Given the description of an element on the screen output the (x, y) to click on. 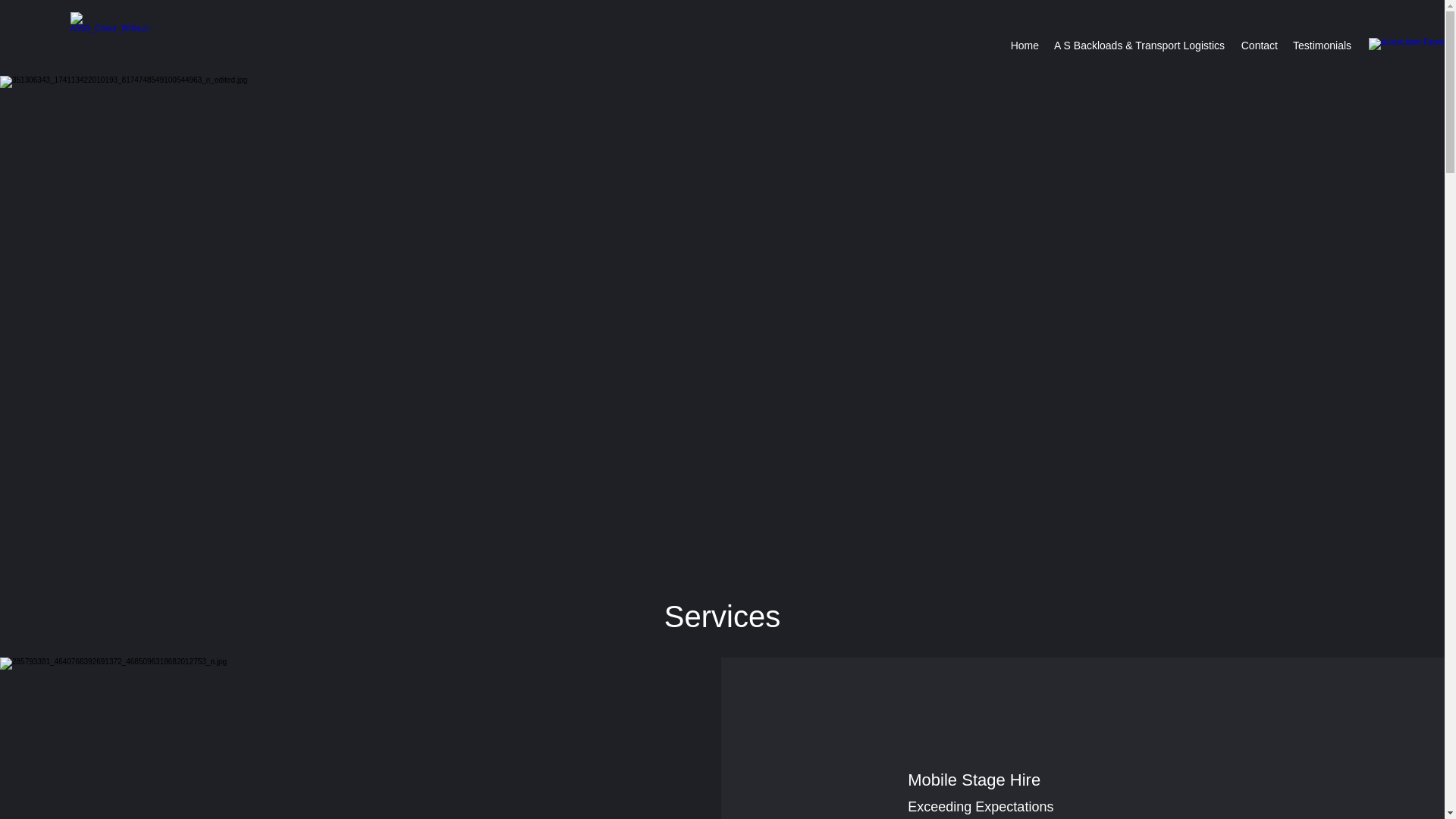
Contact (1258, 45)
Home (1024, 45)
Testimonials (1320, 45)
